Given the description of an element on the screen output the (x, y) to click on. 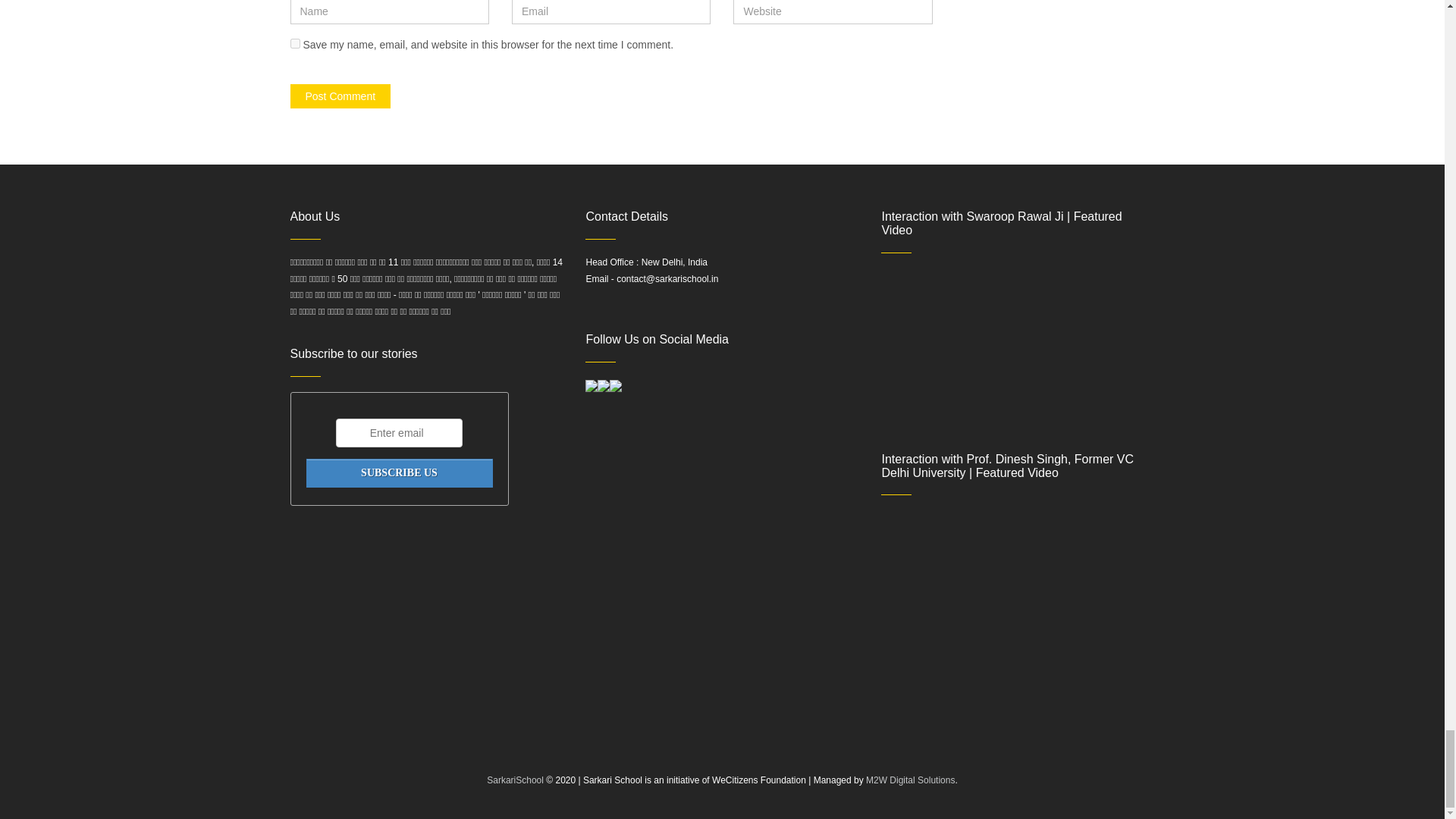
Post Comment (339, 96)
Subscribe Us (399, 472)
yes (294, 43)
